Given the description of an element on the screen output the (x, y) to click on. 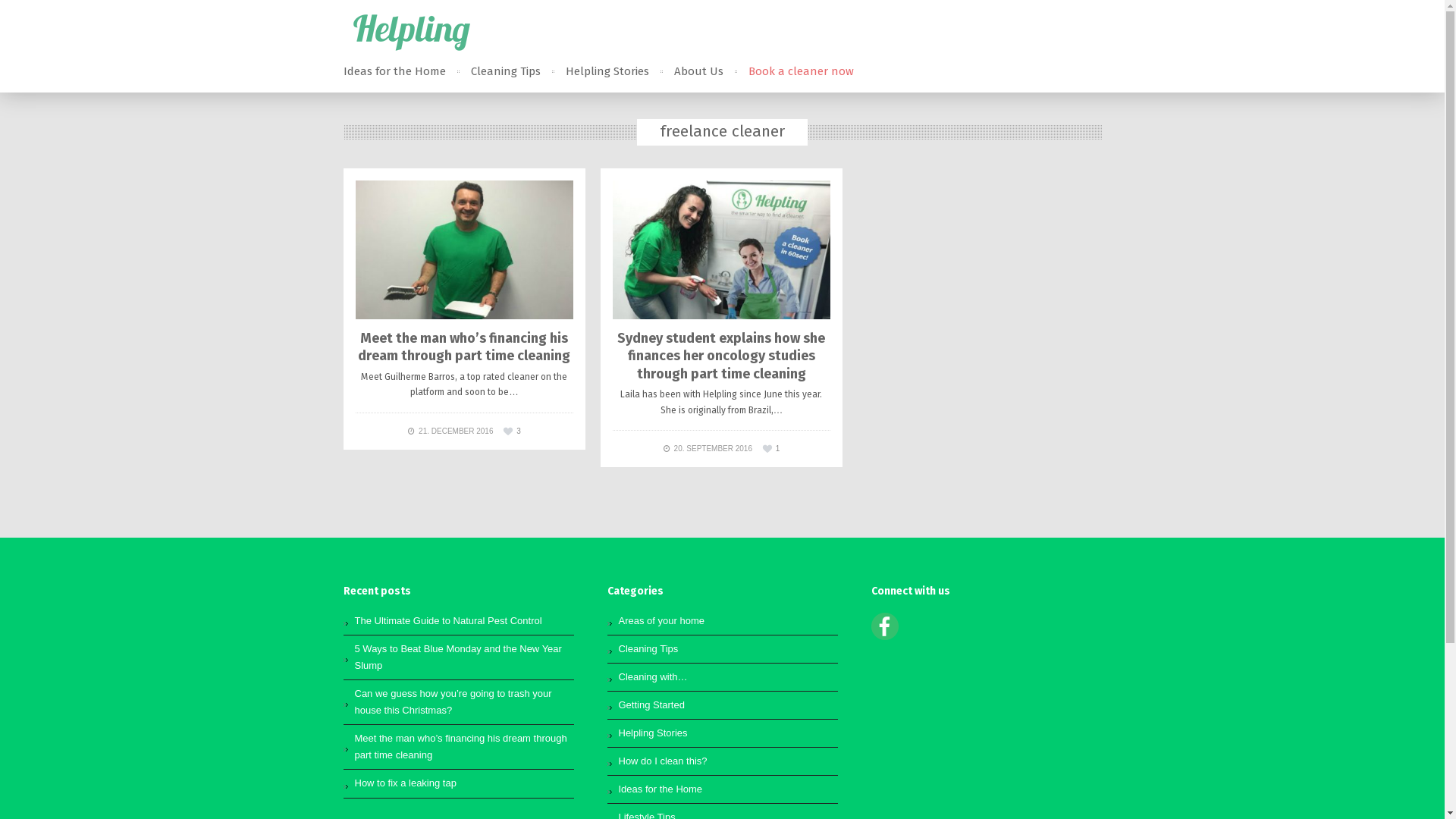
Ideas for the Home Element type: text (660, 788)
3 Element type: text (511, 430)
How do I clean this? Element type: text (662, 760)
About Us Element type: text (697, 71)
Helpling Blog Element type: hover (410, 31)
How to fix a leaking tap Element type: text (405, 782)
1 Element type: text (771, 448)
The Ultimate Guide to Natural Pest Control Element type: text (448, 620)
Areas of your home Element type: text (661, 620)
Cleaning Tips Element type: text (648, 648)
Getting Started Element type: text (651, 704)
Helpling Stories Element type: text (607, 71)
Book a cleaner now Element type: text (800, 71)
Helpling Stories Element type: text (652, 732)
5 Ways to Beat Blue Monday and the New Year Slump Element type: text (457, 657)
Cleaning Tips Element type: text (504, 71)
Ideas for the Home Element type: text (393, 71)
Facebook Element type: hover (883, 636)
